Given the description of an element on the screen output the (x, y) to click on. 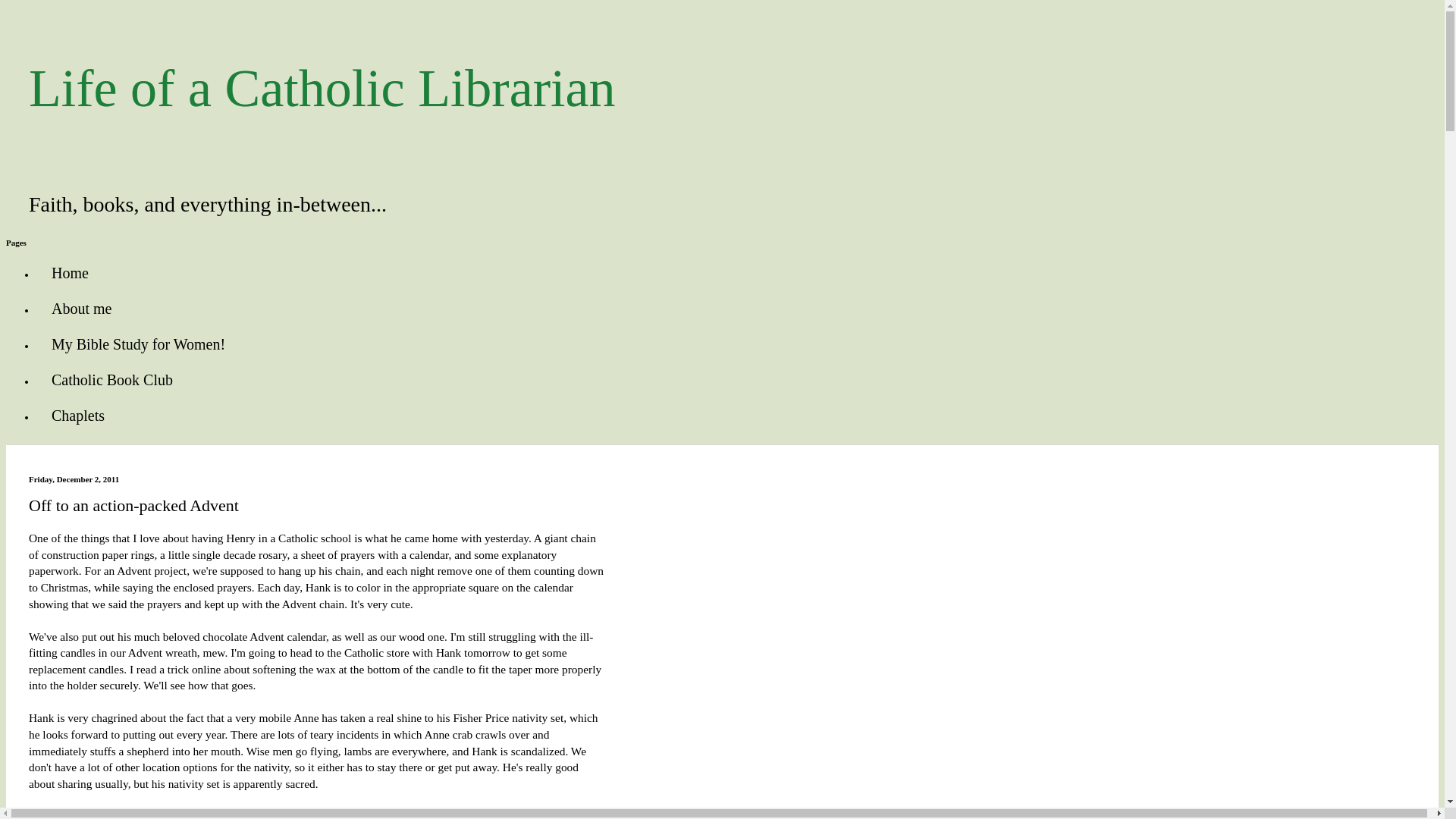
About me (81, 308)
My Bible Study for Women! (138, 344)
Catholic Book Club (111, 380)
Chaplets (77, 416)
Home (69, 273)
Life of a Catholic Librarian (322, 87)
